Given the description of an element on the screen output the (x, y) to click on. 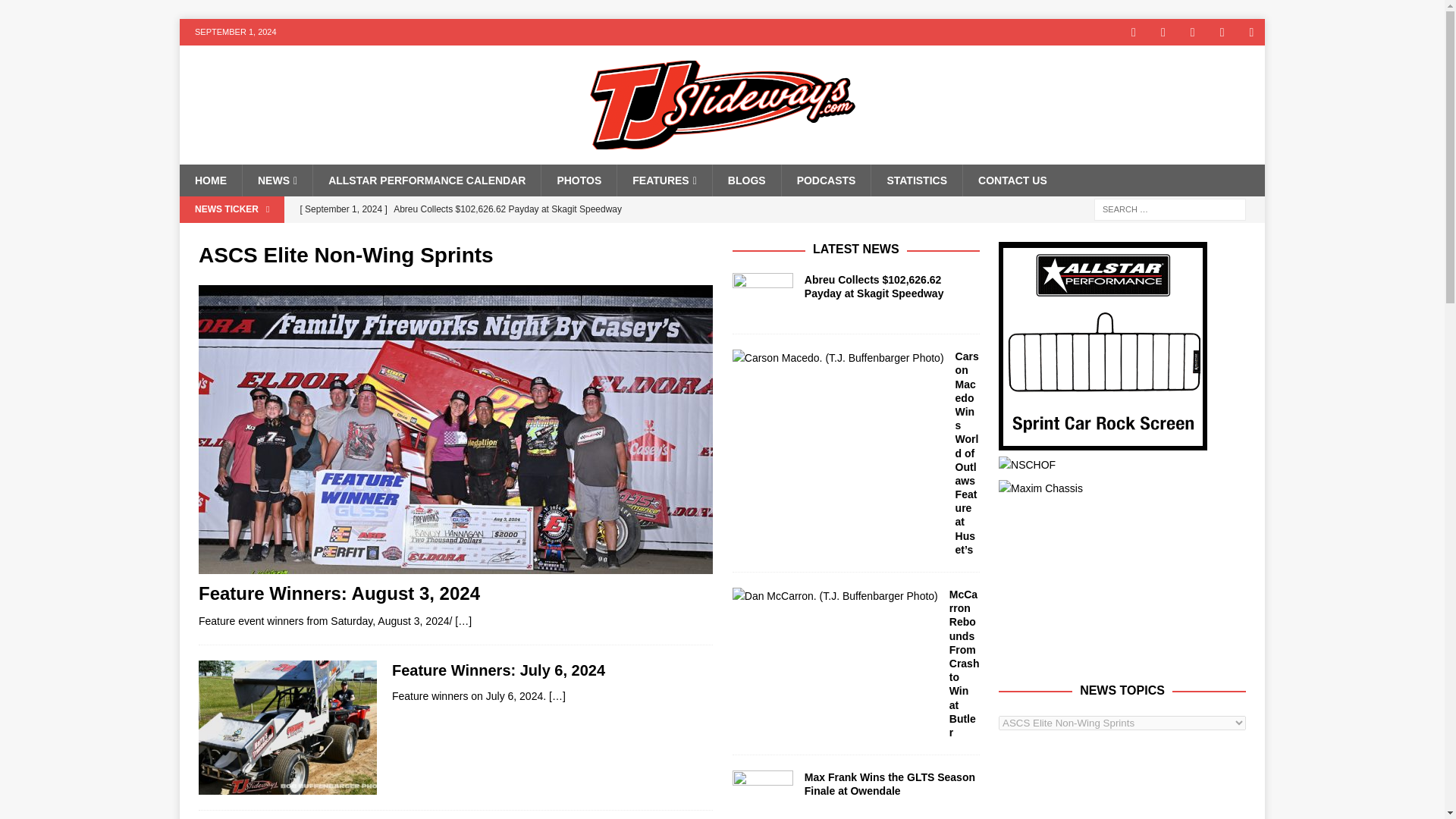
BLOGS (745, 180)
STATISTICS (916, 180)
CONTACT US (1012, 180)
Feature Winners:  August 3, 2024 (339, 593)
Search (56, 11)
ALLSTAR PERFORMANCE CALENDAR (426, 180)
Feature Winners:  August 3, 2024 (462, 621)
FEATURES (663, 180)
Feature Winners:  July 6, 2024 (498, 669)
HOME (210, 180)
